Given the description of an element on the screen output the (x, y) to click on. 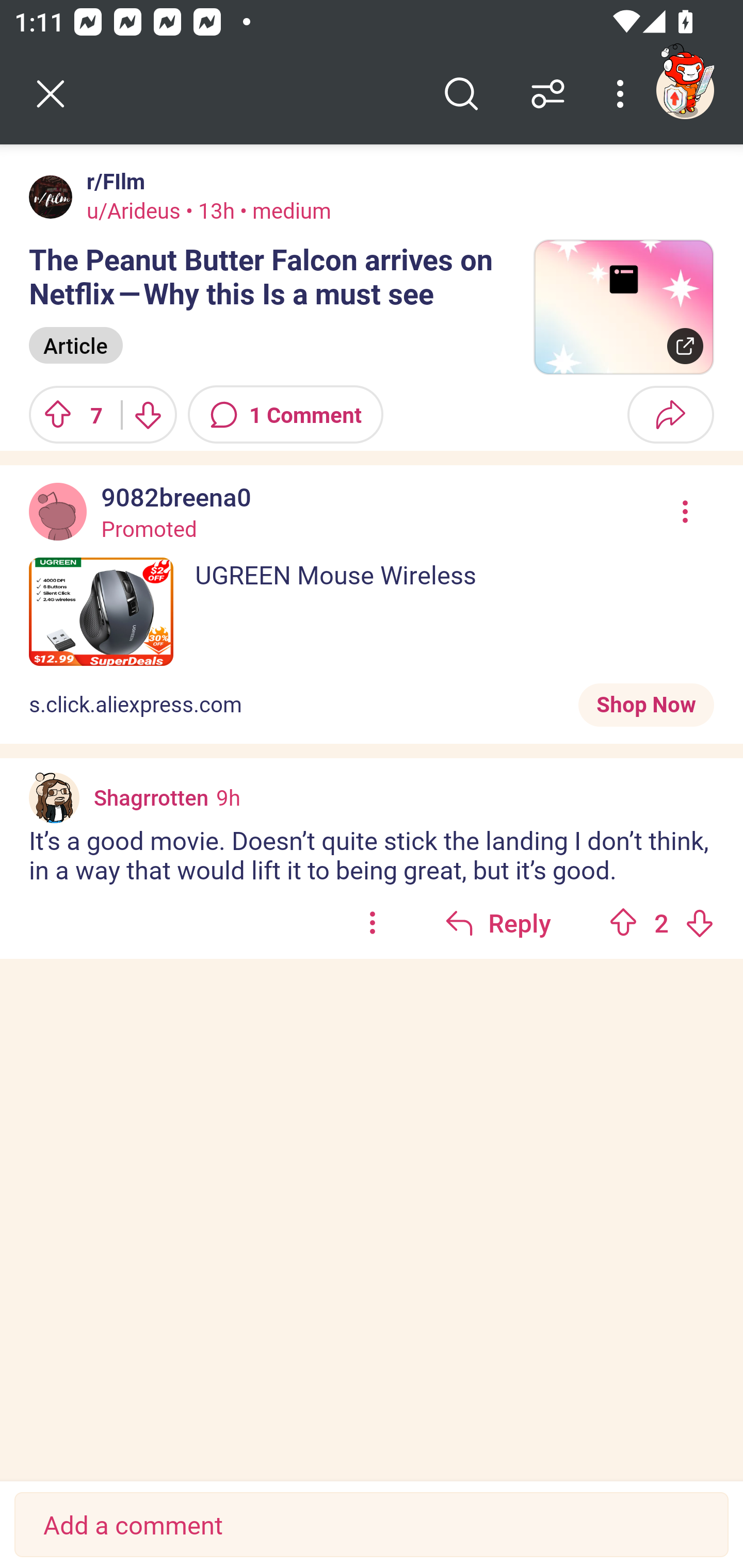
Back (50, 93)
TestAppium002 account (685, 90)
Search comments (460, 93)
Sort comments (547, 93)
More options (623, 93)
r/FIlm (112, 181)
Avatar (50, 196)
u/Arideus (133, 210)
 • medium (282, 210)
Thumbnail image (623, 306)
Article (75, 345)
Upvote 7 (67, 414)
Downvote (146, 414)
1 Comment (285, 414)
Share (670, 414)
Custom avatar (53, 798)
9h (228, 797)
options (372, 922)
Reply (498, 922)
Upvote 2 2 votes Downvote (661, 922)
Upvote (622, 922)
Downvote (699, 922)
Add a comment (371, 1524)
